Given the description of an element on the screen output the (x, y) to click on. 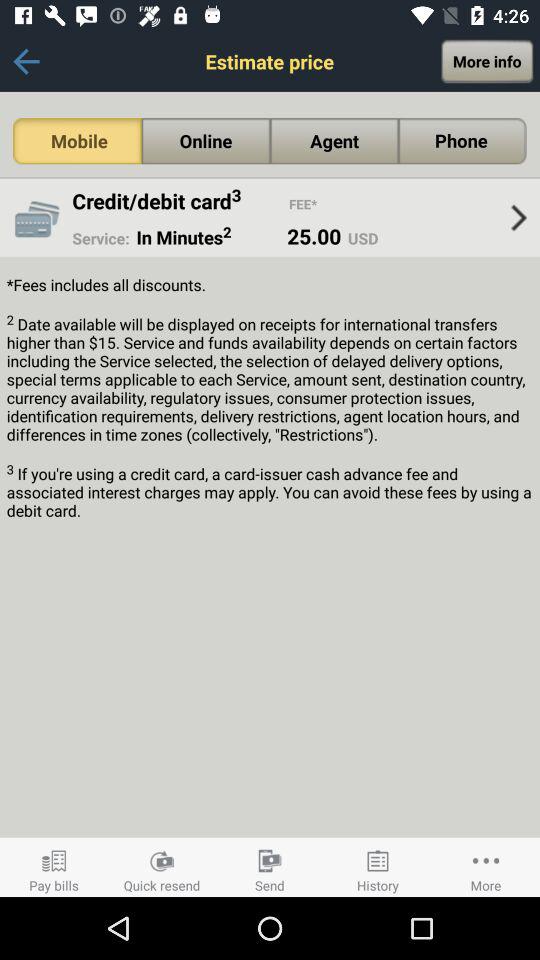
press the item next to the online (77, 141)
